Given the description of an element on the screen output the (x, y) to click on. 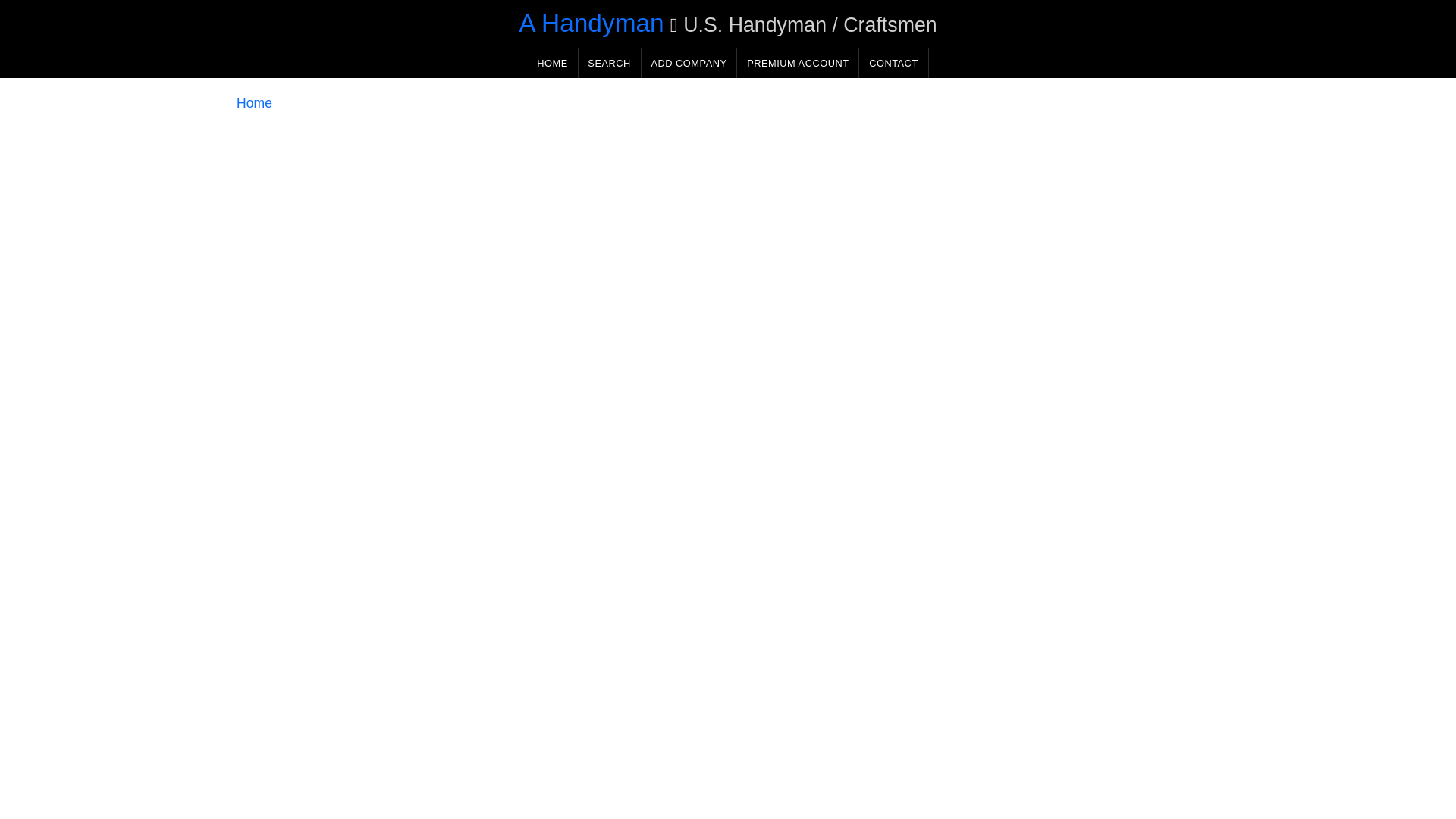
SEARCH (609, 62)
Home (253, 102)
HOME (551, 62)
Search in this webseite. (609, 62)
ADD COMPANY (689, 62)
A Handyman (590, 22)
Premium account (797, 62)
CONTACT (893, 62)
Add a new company (689, 62)
PREMIUM ACCOUNT (797, 62)
